Given the description of an element on the screen output the (x, y) to click on. 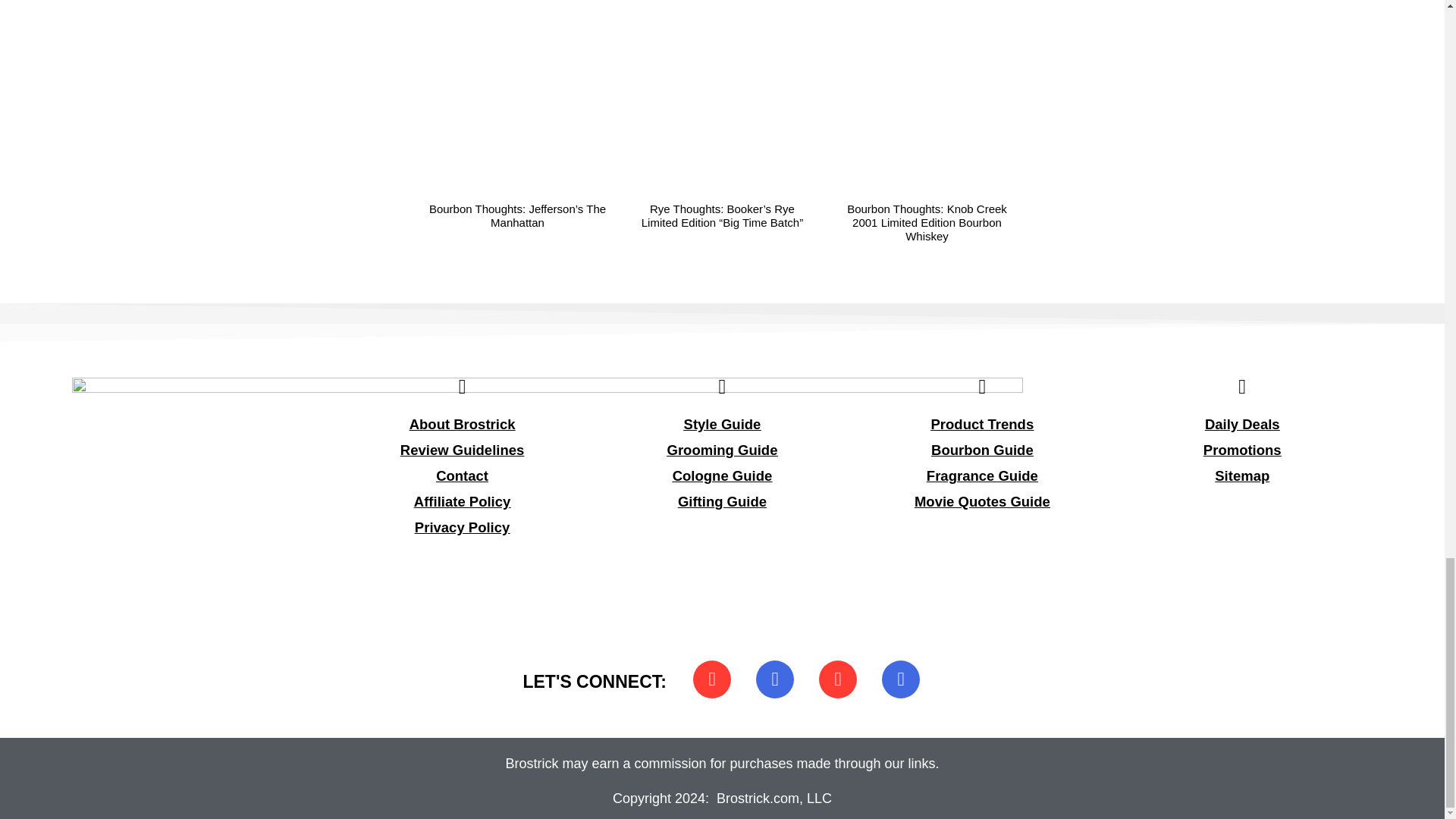
About Brostrick (462, 424)
Bourbon Guide (982, 449)
Privacy Policy (461, 527)
Contact (461, 475)
Product Trends (982, 424)
Review Guidelines (462, 449)
Sitemap (1241, 475)
Style Guide (722, 424)
Gifting Guide (722, 501)
Grooming Guide (721, 449)
